Given the description of an element on the screen output the (x, y) to click on. 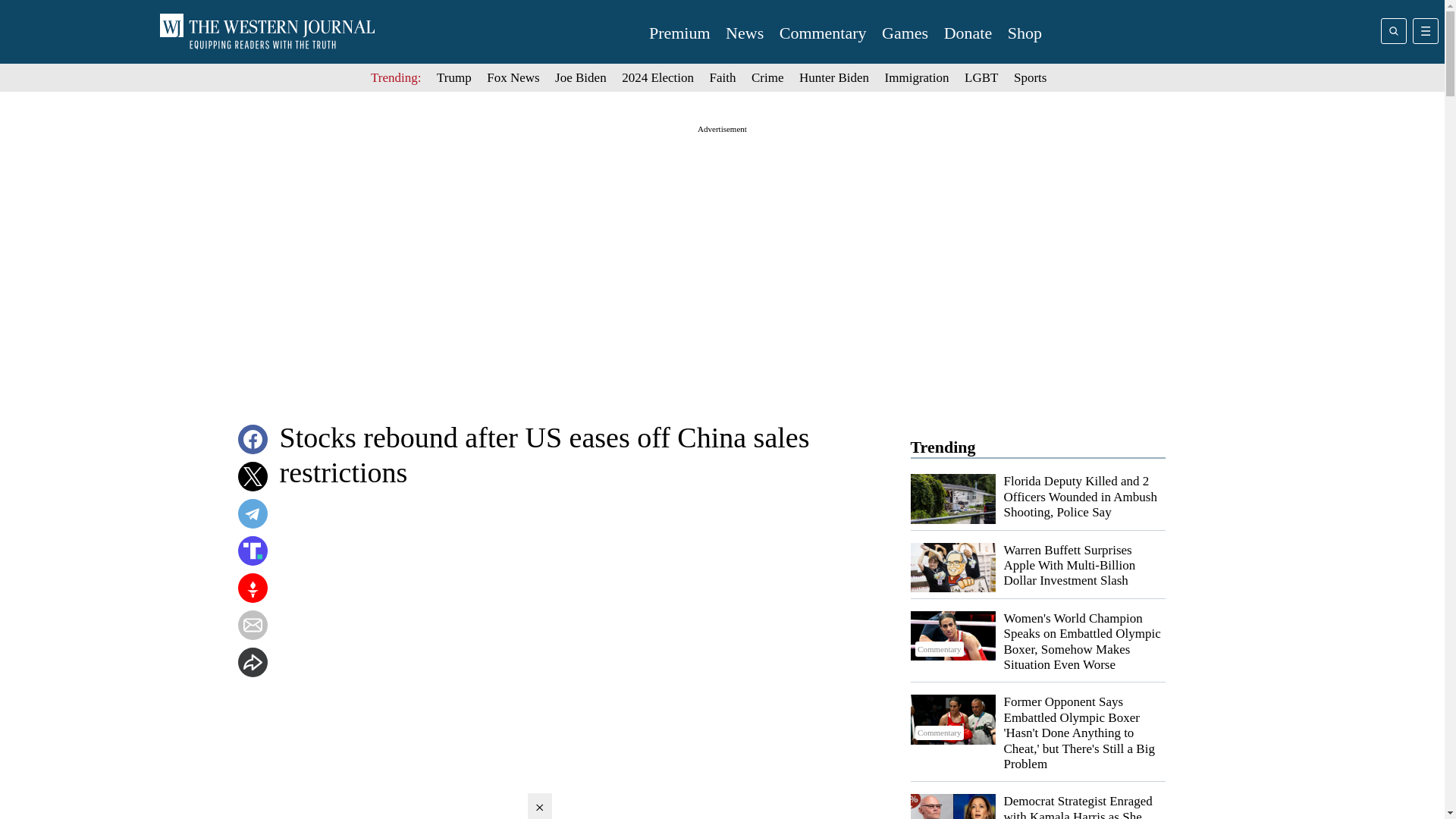
Games (905, 32)
Commentary (952, 635)
Fox News (512, 77)
Immigration (917, 77)
LGBT (980, 77)
Donate (967, 32)
Commentary (952, 719)
Trump (453, 77)
Faith (723, 77)
Sports (1029, 77)
Commentary (822, 32)
Joe Biden (580, 77)
2024 Election (657, 77)
